Given the description of an element on the screen output the (x, y) to click on. 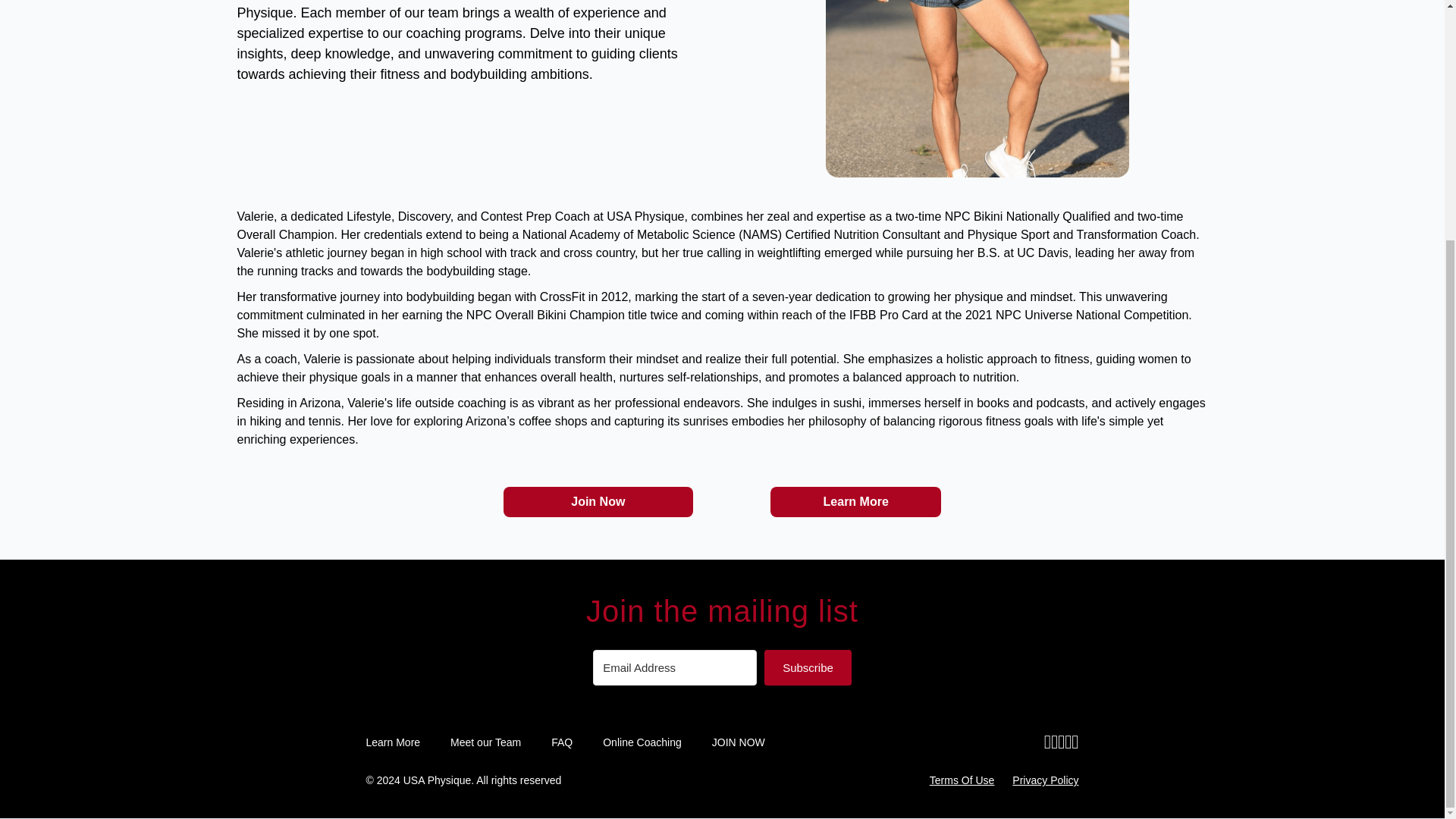
Online Coaching (641, 742)
Join Now (598, 501)
Learn More (392, 742)
Subscribe (807, 667)
FAQ (561, 742)
Meet our Team (485, 742)
Terms Of Use (962, 780)
Learn More (855, 501)
Privacy Policy (1044, 780)
JOIN NOW (738, 742)
